Given the description of an element on the screen output the (x, y) to click on. 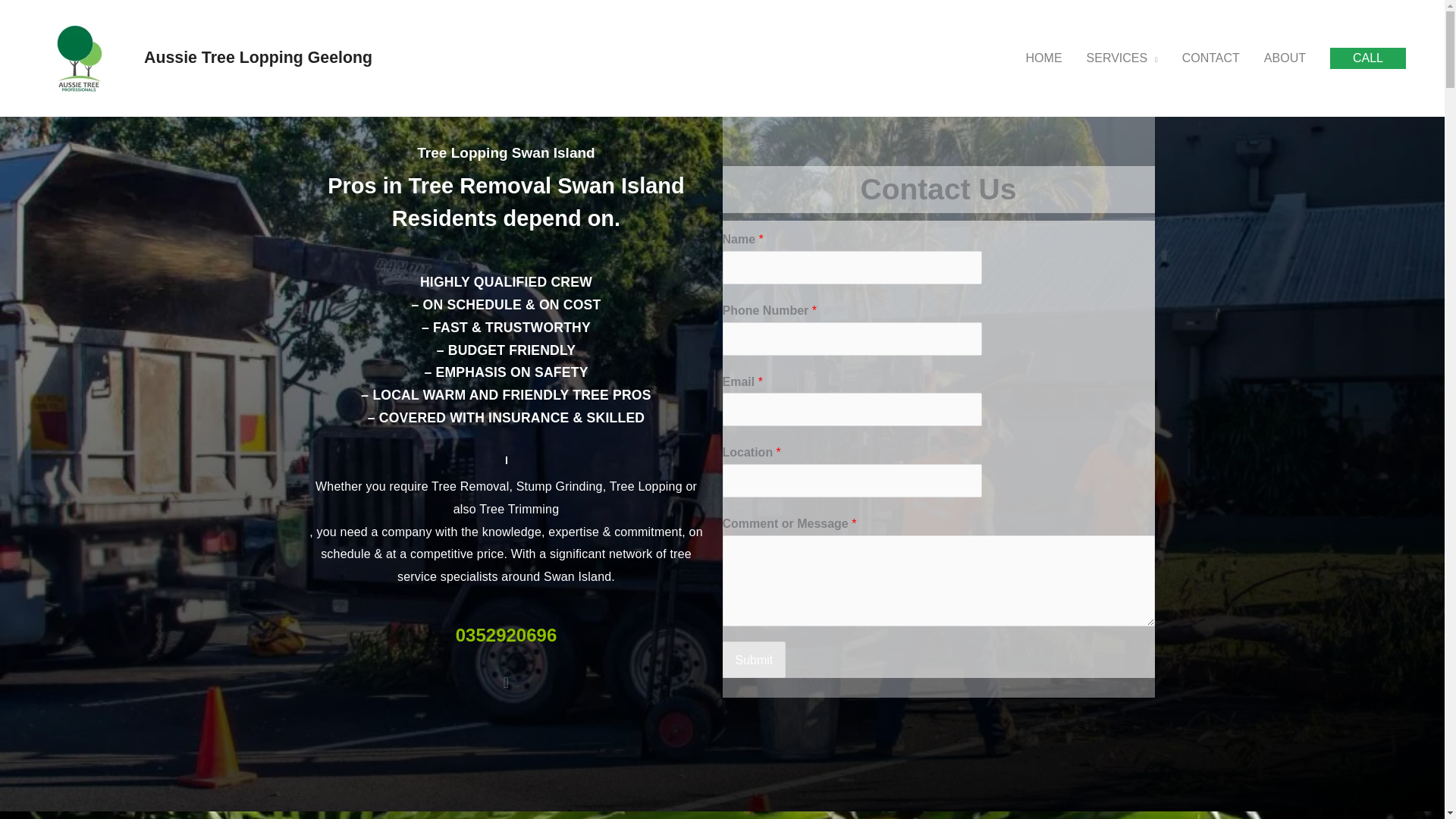
CONTACT (1211, 58)
Submit (754, 659)
ABOUT (1284, 58)
0352920696 (505, 634)
SERVICES (1122, 58)
HOME (1043, 58)
CALL (1368, 57)
Aussie Tree Lopping Geelong (258, 57)
